Given the description of an element on the screen output the (x, y) to click on. 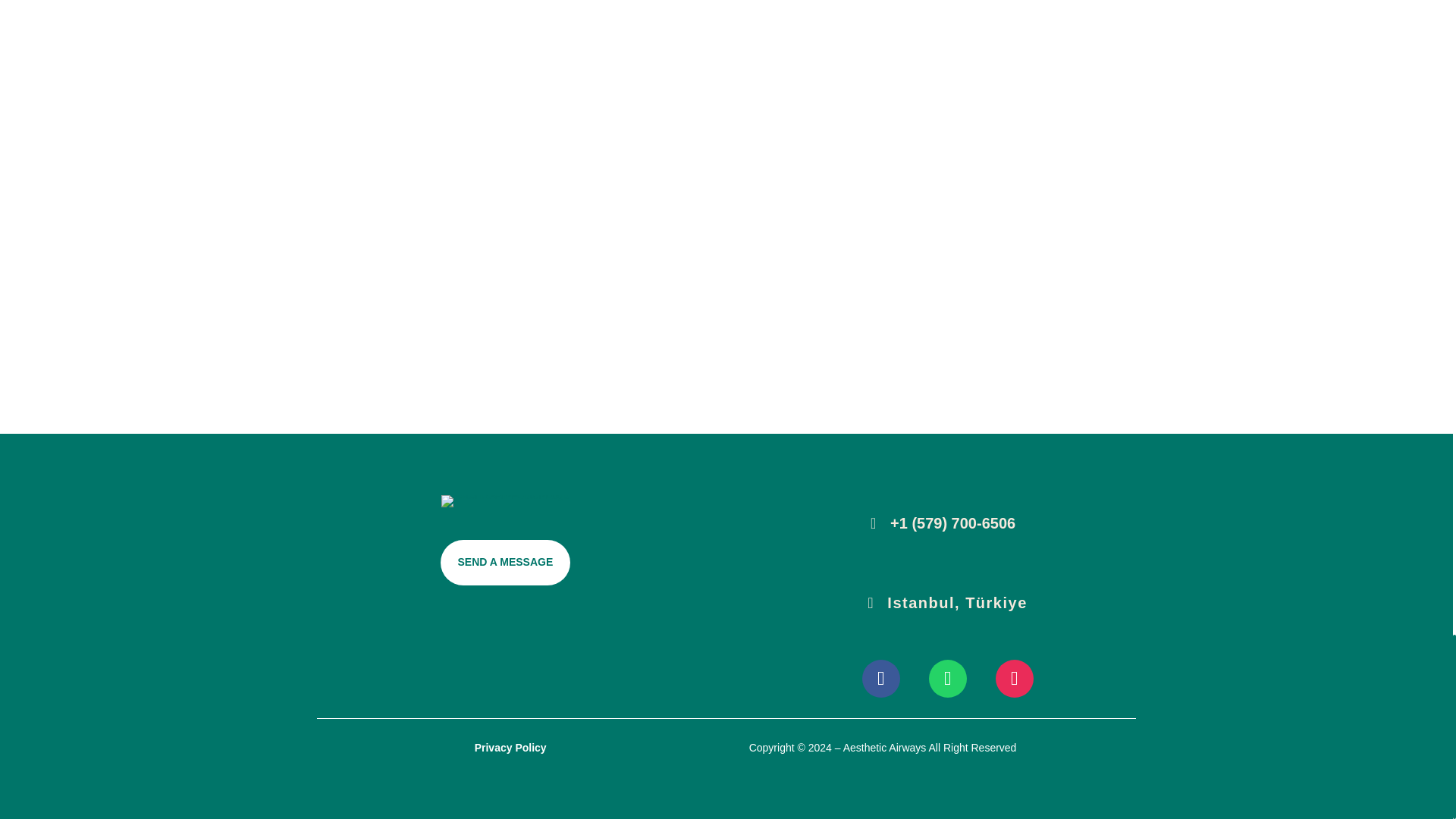
Follow on Facebook (880, 678)
Astehtic-Air-Footer-Logo (505, 500)
Follow on Instagram (1014, 678)
Follow on WhatsApp (947, 678)
